Given the description of an element on the screen output the (x, y) to click on. 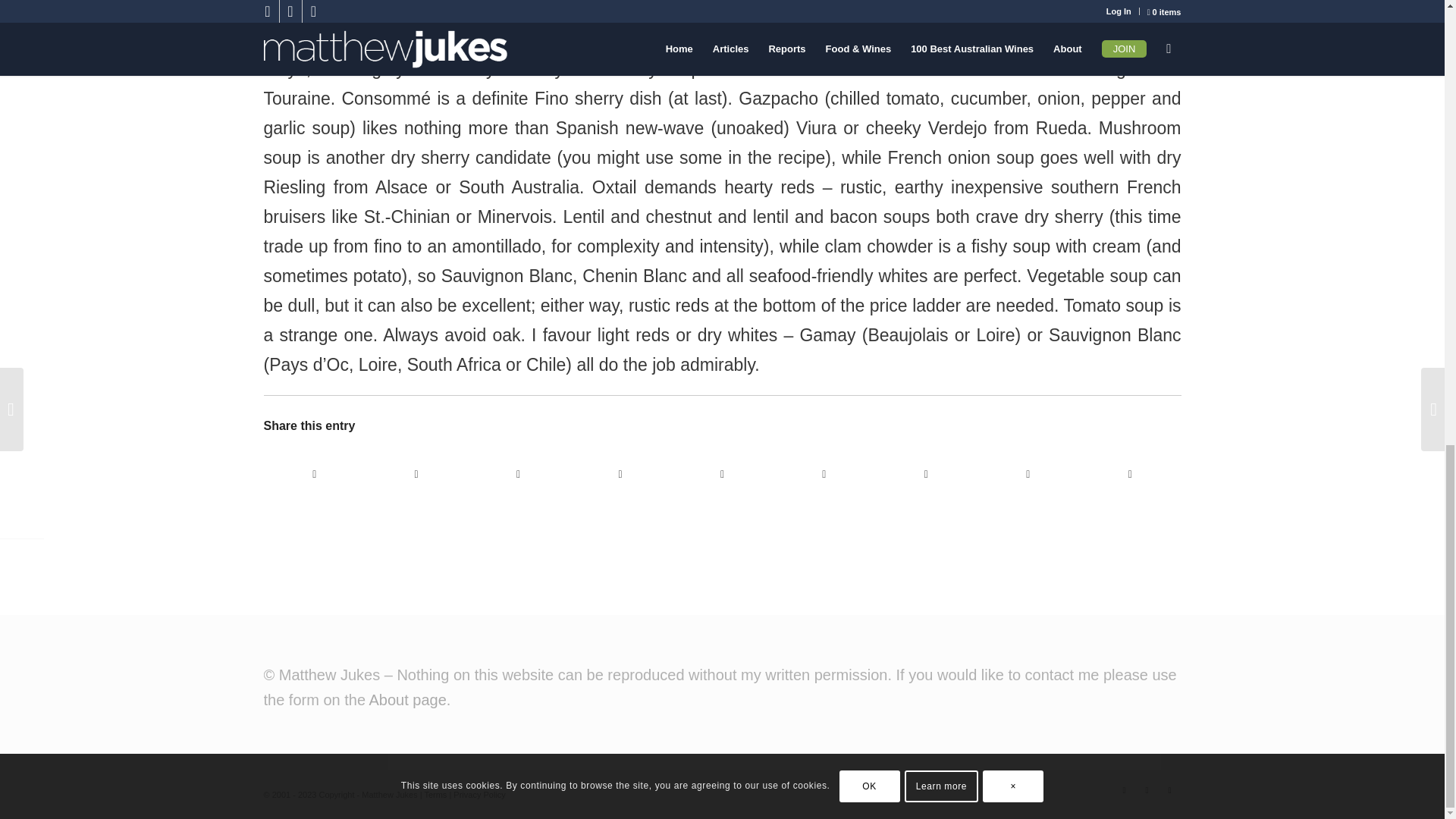
X (1146, 789)
Instagram (1169, 789)
About page (406, 699)
LinkedIn (1124, 789)
